Given the description of an element on the screen output the (x, y) to click on. 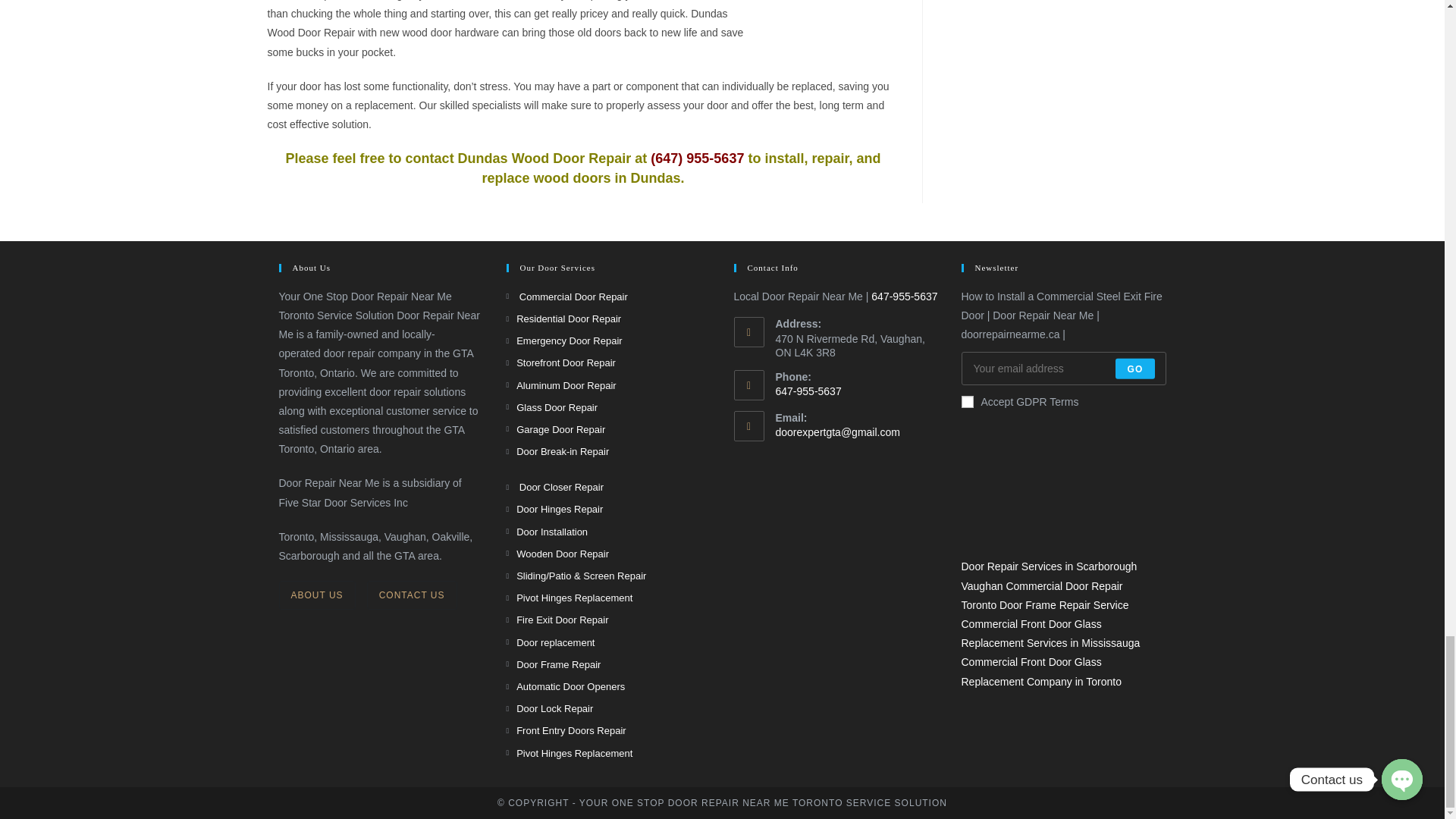
1 (967, 401)
